Given the description of an element on the screen output the (x, y) to click on. 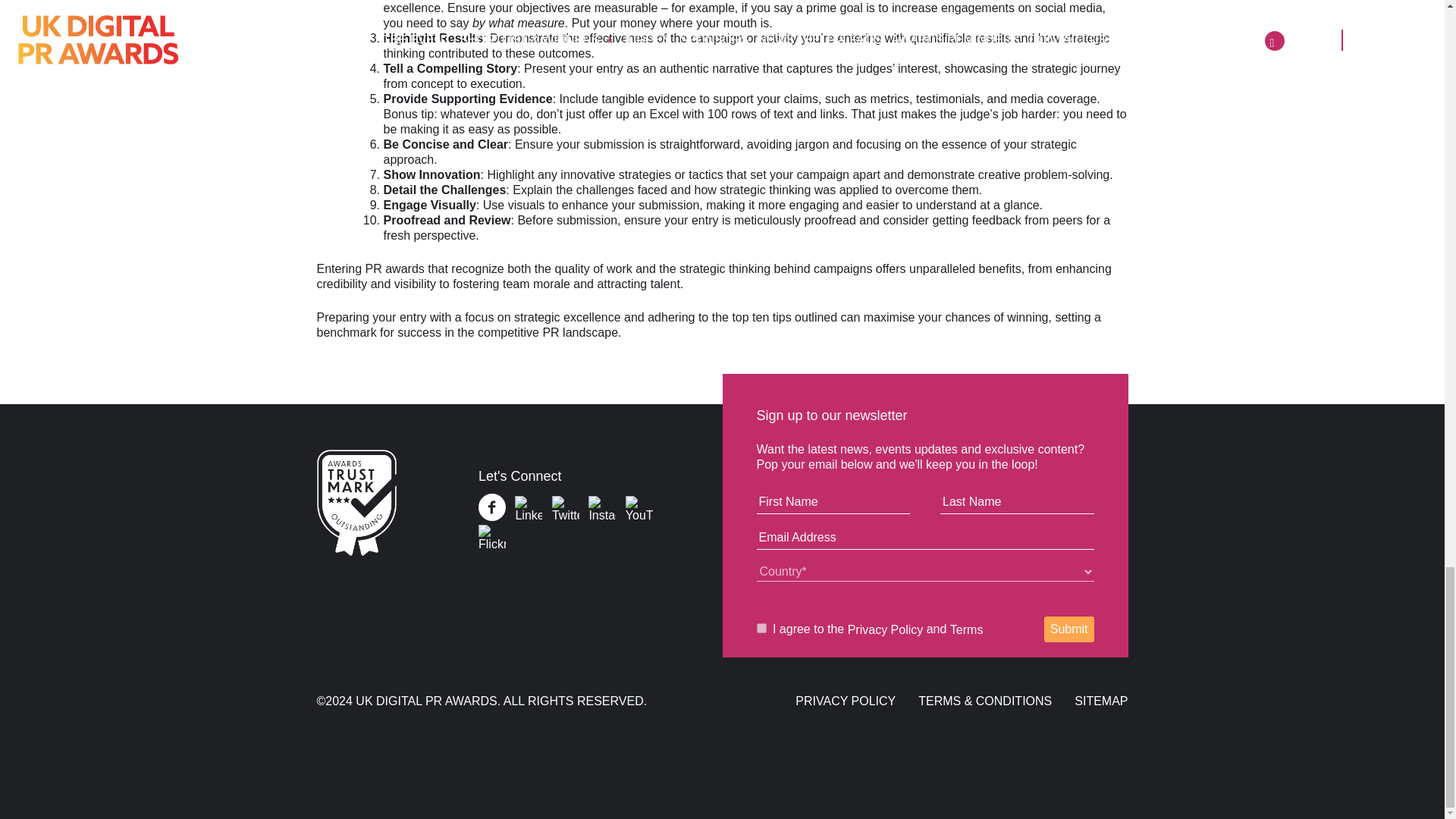
Terms (967, 628)
PRIVACY POLICY (844, 701)
on (762, 628)
SITEMAP (1100, 701)
Submit (1068, 629)
Privacy Policy (885, 628)
